Given the description of an element on the screen output the (x, y) to click on. 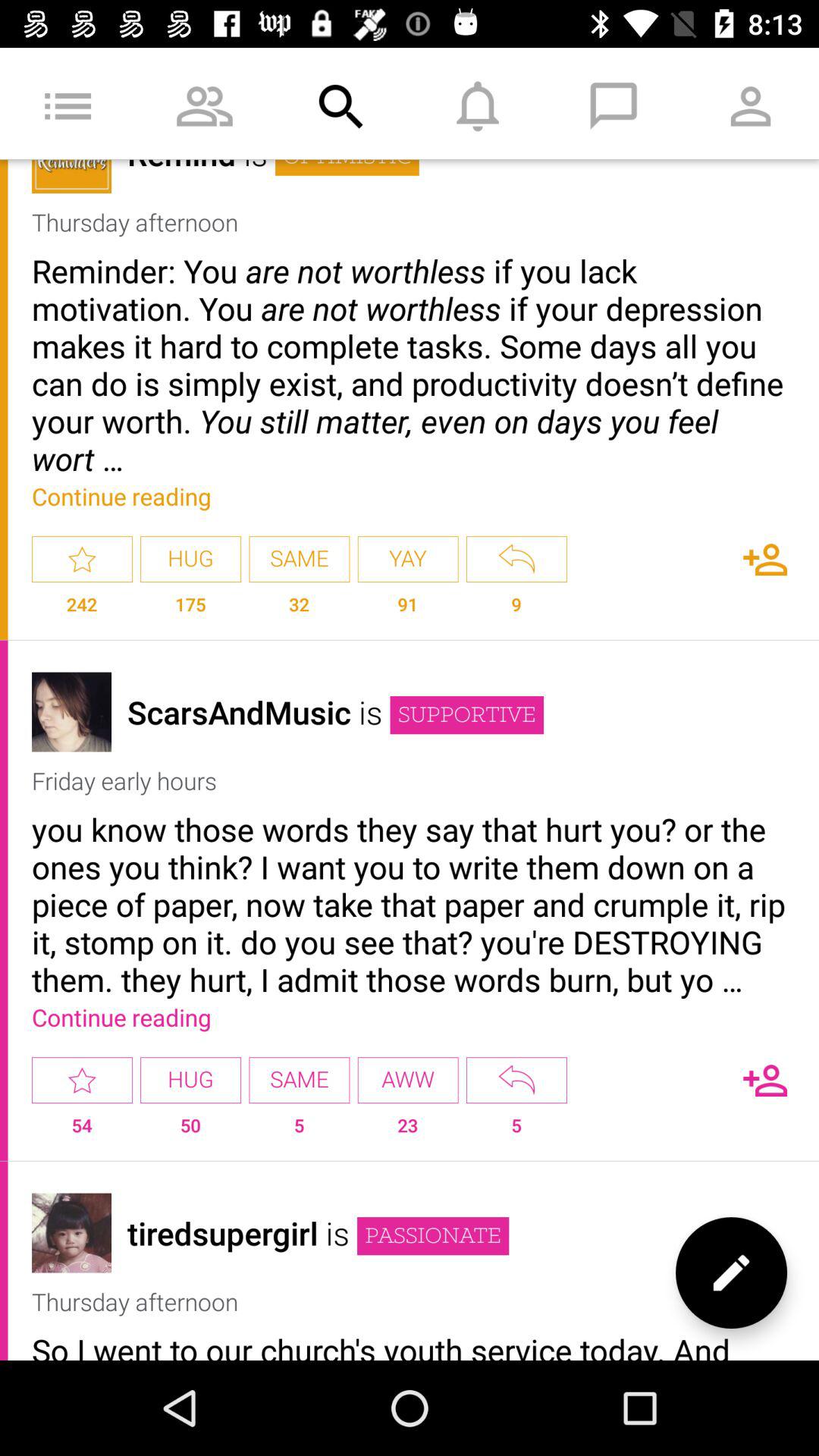
view profile (71, 1232)
